Given the description of an element on the screen output the (x, y) to click on. 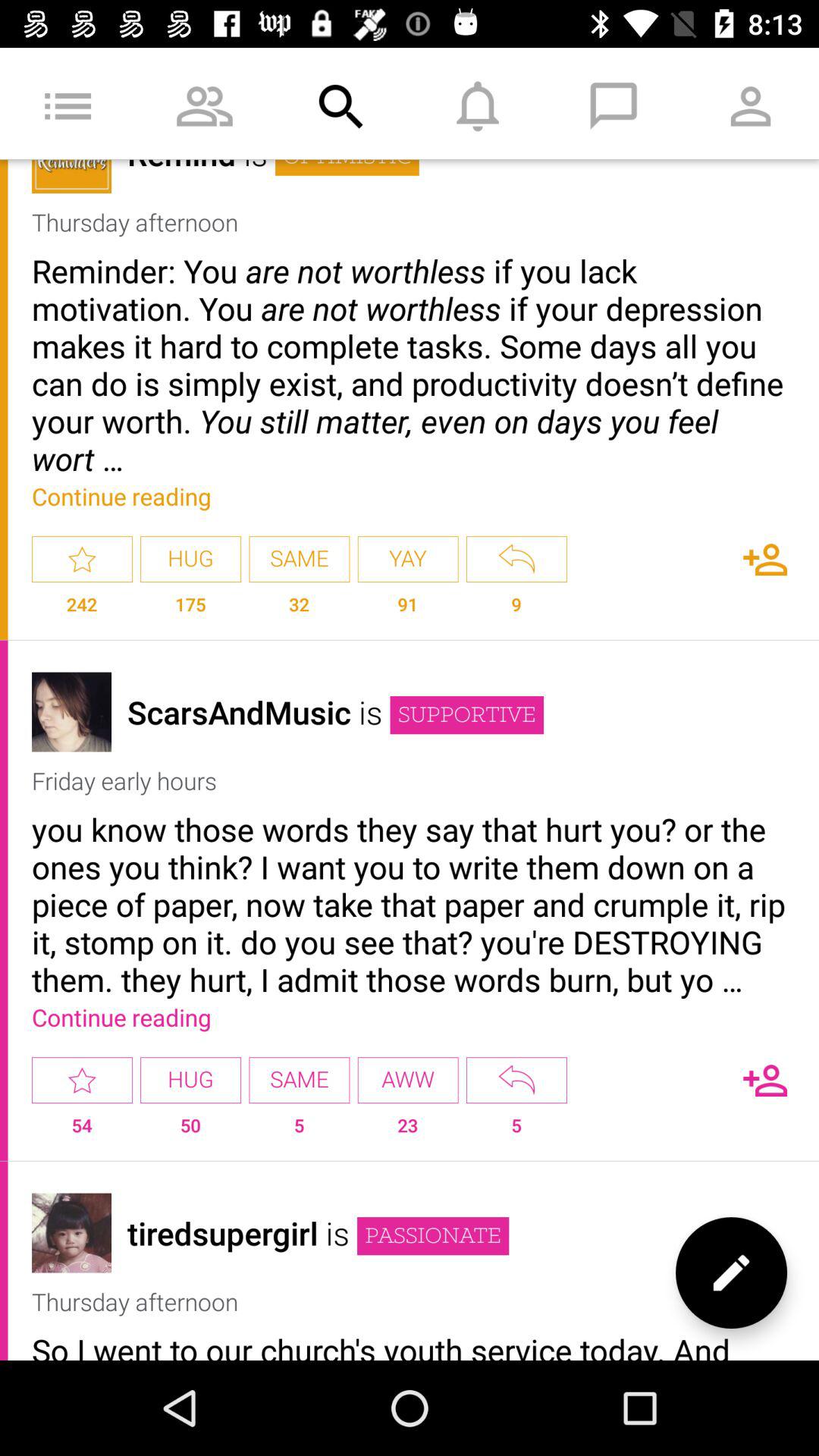
view profile (71, 1232)
